Given the description of an element on the screen output the (x, y) to click on. 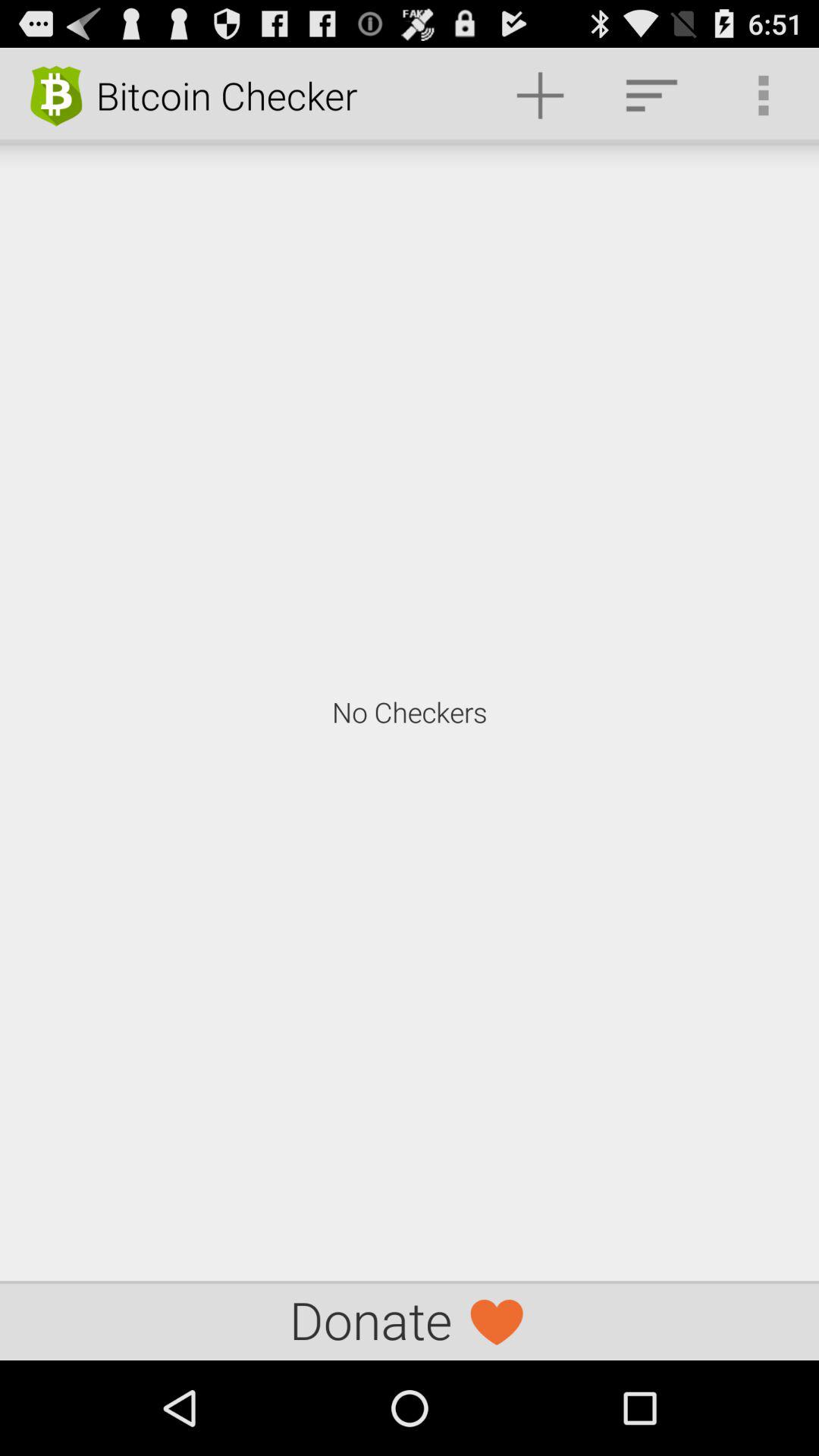
turn off icon above no checkers icon (763, 95)
